Given the description of an element on the screen output the (x, y) to click on. 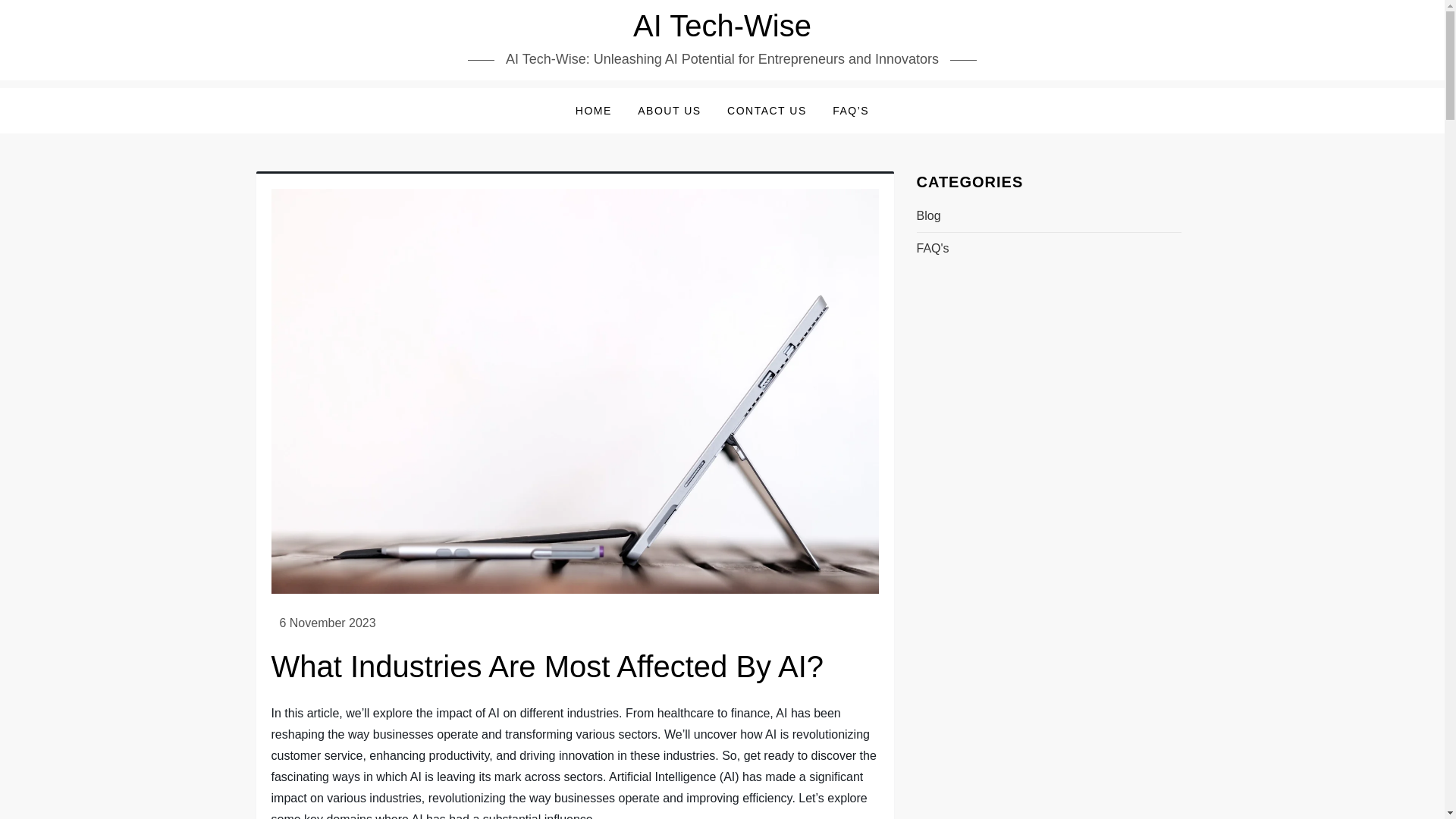
6 November 2023 (327, 622)
FAQ'S (932, 248)
HOME (593, 110)
AI Tech-Wise (721, 25)
CONTACT US (767, 110)
ABOUT US (668, 110)
Blog (927, 215)
